Given the description of an element on the screen output the (x, y) to click on. 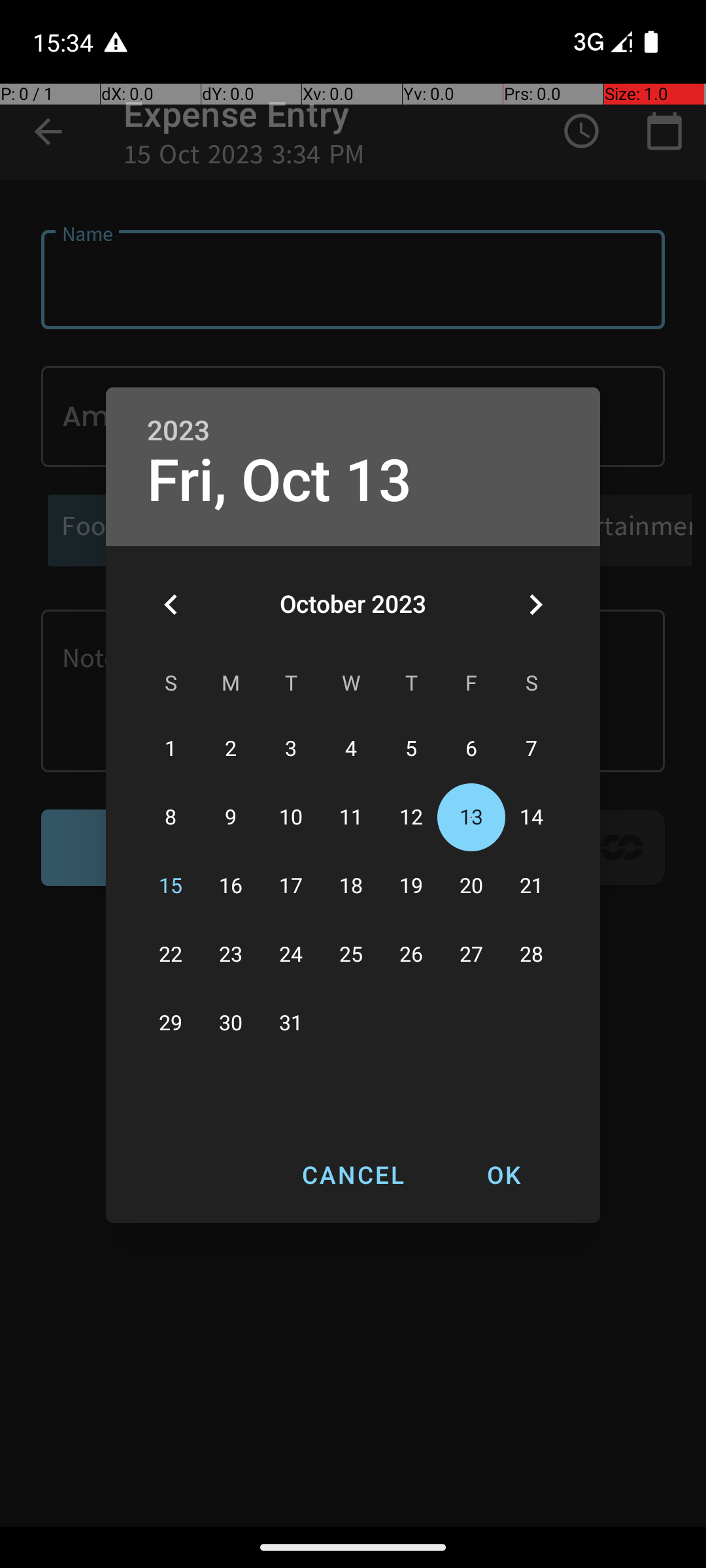
2023 Element type: android.widget.TextView (178, 430)
Fri, Oct 13 Element type: android.widget.TextView (279, 480)
Previous month Element type: android.widget.ImageButton (170, 604)
Next month Element type: android.widget.ImageButton (535, 604)
24 Element type: android.view.View (290, 954)
26 Element type: android.view.View (411, 954)
27 Element type: android.view.View (471, 954)
28 Element type: android.view.View (531, 954)
29 Element type: android.view.View (170, 1023)
31 Element type: android.view.View (290, 1023)
